Given the description of an element on the screen output the (x, y) to click on. 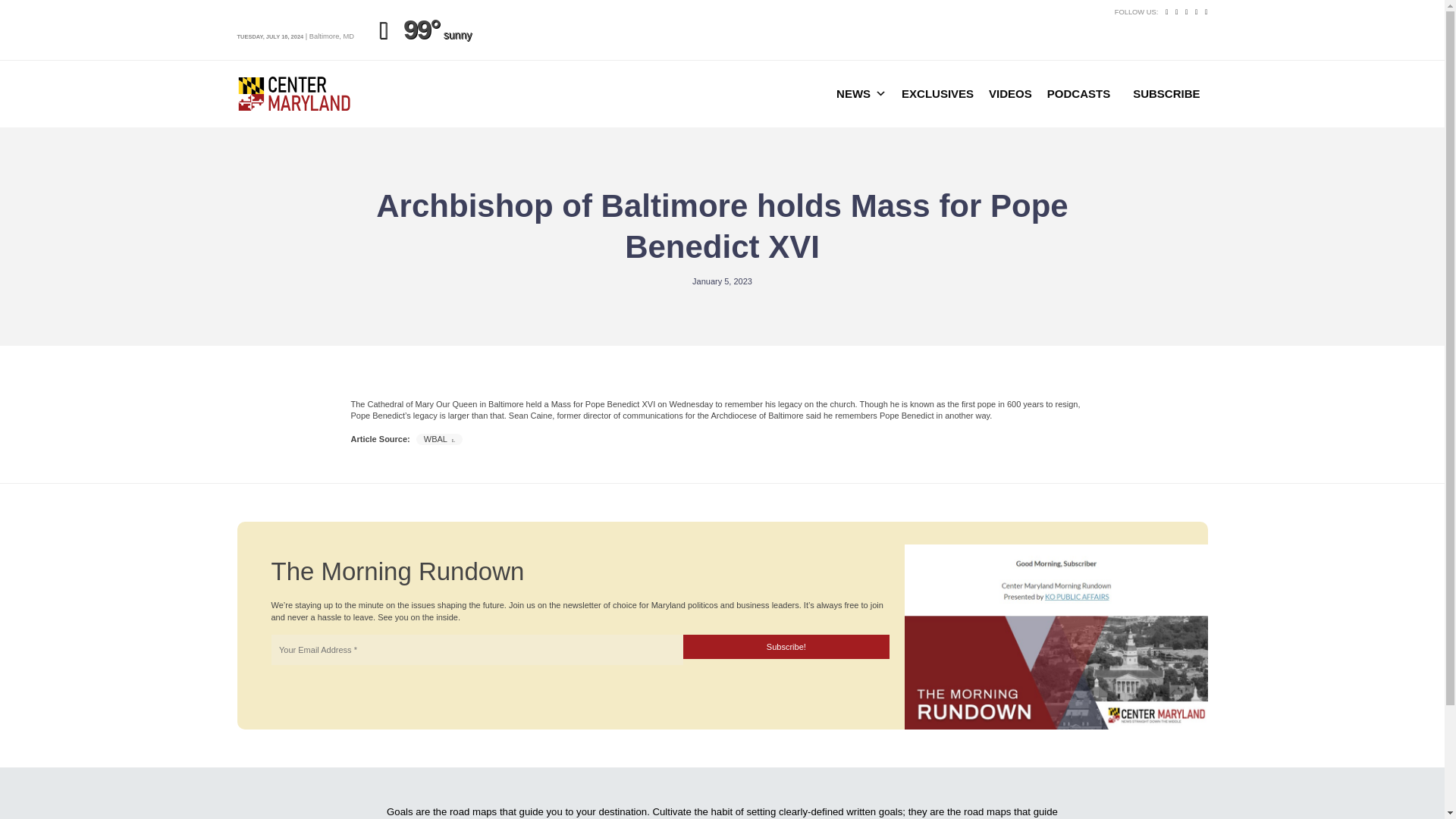
NEWS (860, 93)
Your Email Address (476, 649)
SUBSCRIBE (1166, 93)
Subscribe! (785, 646)
EXCLUSIVES (937, 93)
PODCASTS (1078, 93)
WBAL (439, 439)
Subscribe! (785, 646)
VIDEOS (1010, 93)
